Given the description of an element on the screen output the (x, y) to click on. 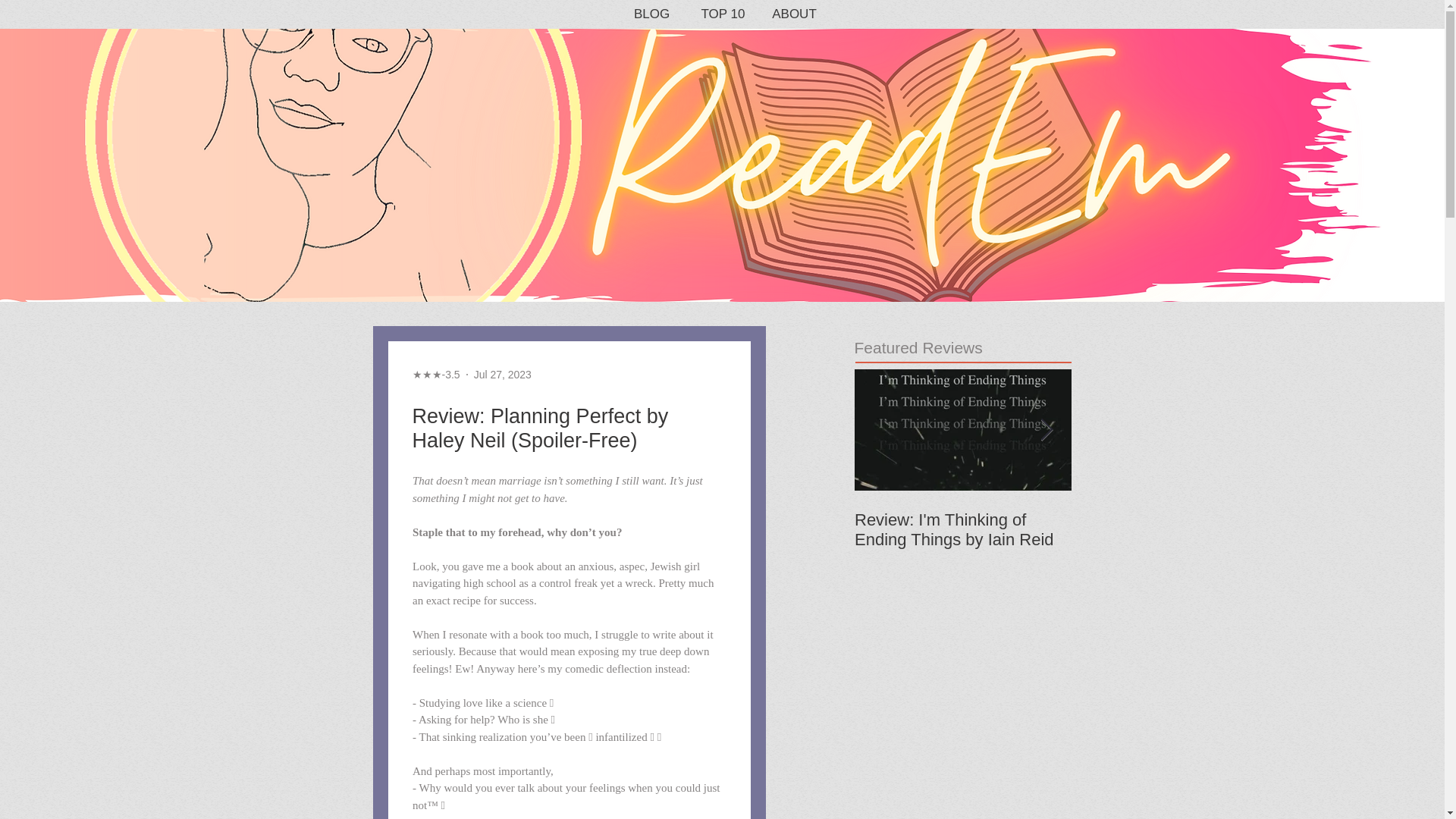
Jul 27, 2023 (502, 374)
ABOUT (793, 14)
Review: I'm Thinking of Ending Things by Iain Reid (961, 529)
TOP 10 (722, 14)
BLOG (651, 14)
